Given the description of an element on the screen output the (x, y) to click on. 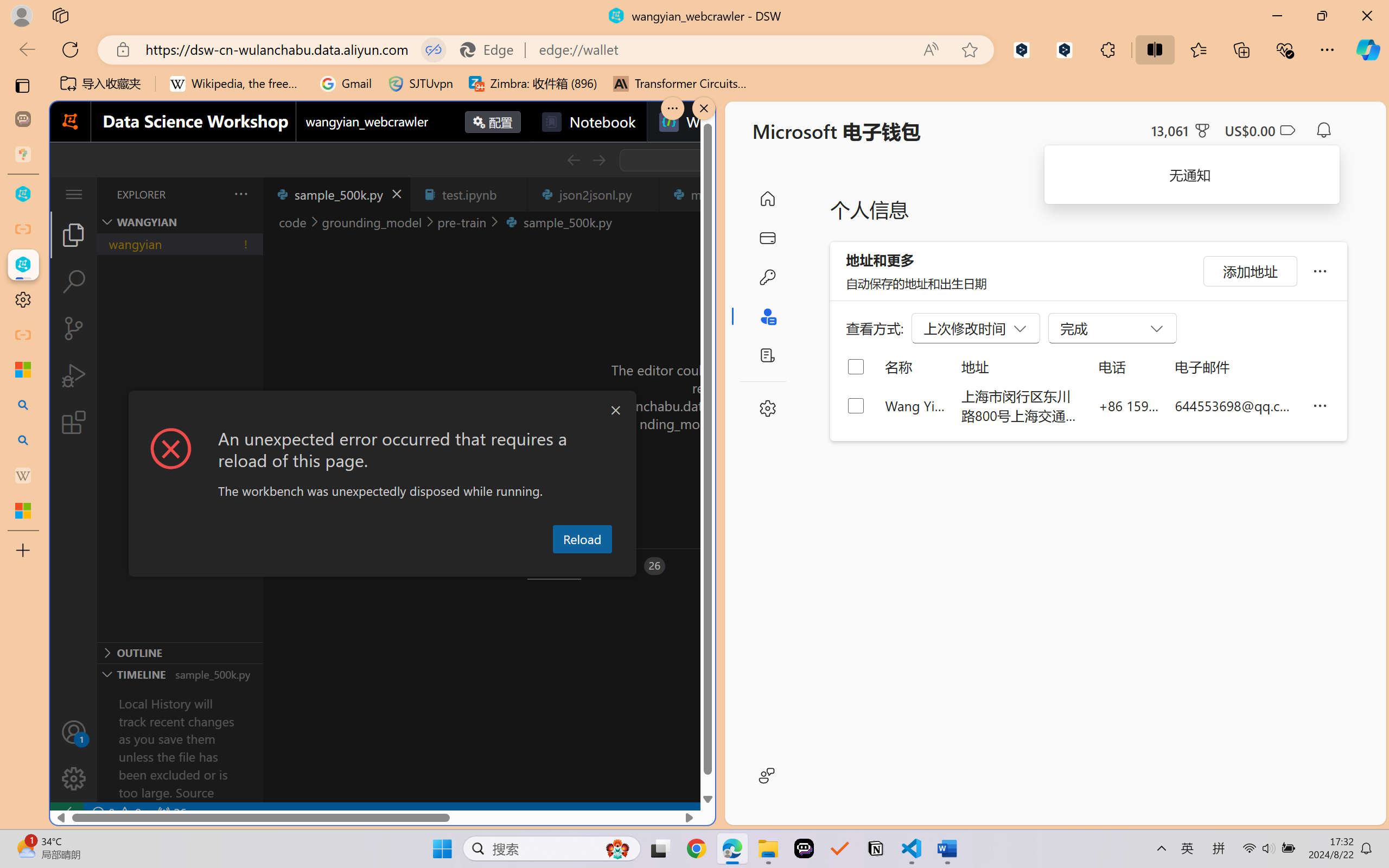
Class: actions-container (381, 410)
Go Forward (Alt+RightArrow) (598, 159)
Terminal (Ctrl+`) (553, 565)
Reload (581, 538)
Class: menubar compact overflow-menu-only (73, 194)
WebIDE (698, 121)
Search (Ctrl+Shift+F) (73, 281)
Tab actions (644, 194)
wangyian_webcrawler - DSW (22, 264)
